Given the description of an element on the screen output the (x, y) to click on. 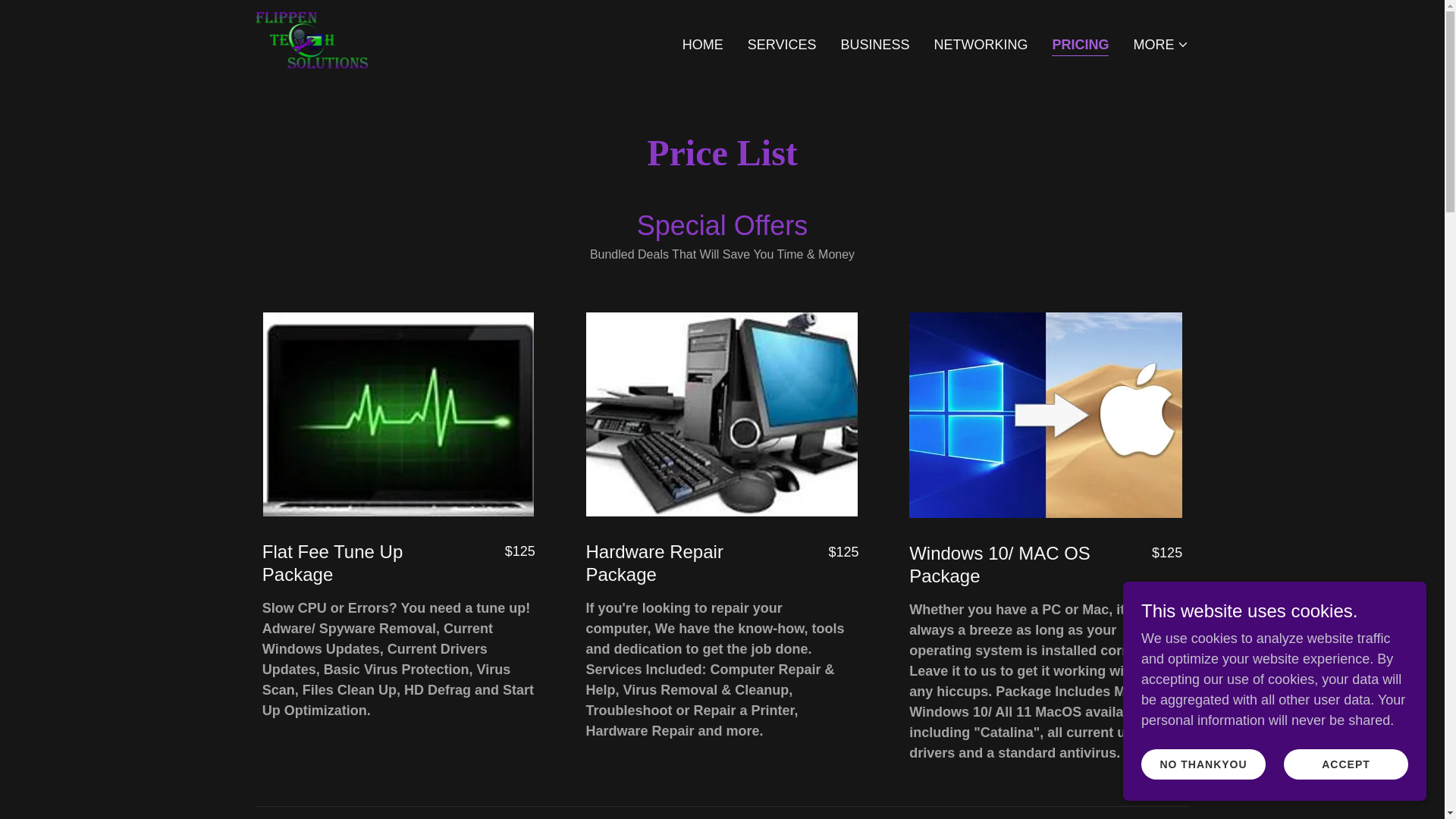
MORE (1160, 44)
PRICING (1079, 45)
BUSINESS (874, 43)
SERVICES (781, 43)
NETWORKING (980, 43)
HOME (703, 43)
